Given the description of an element on the screen output the (x, y) to click on. 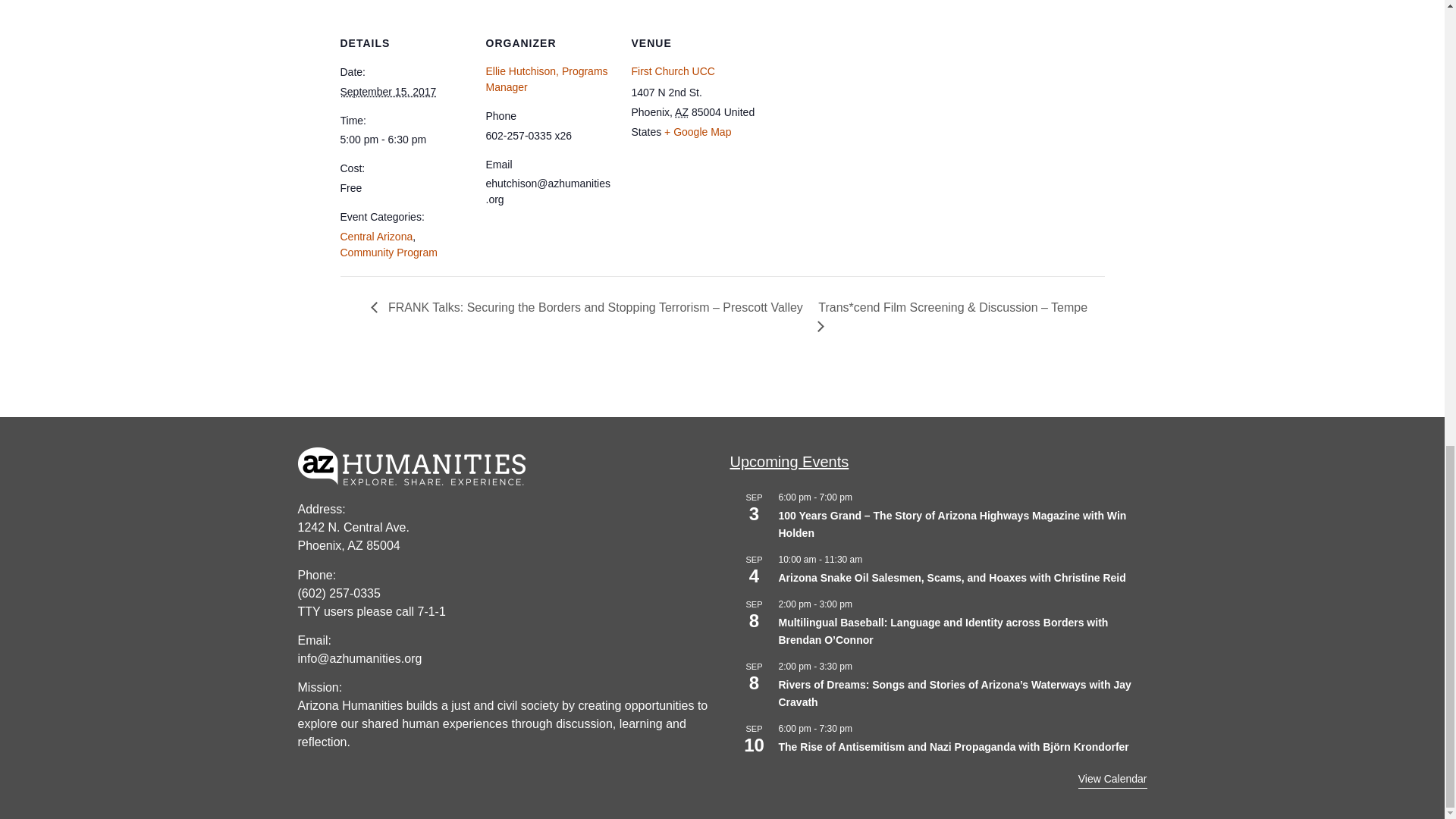
Arizona (681, 111)
2017-09-15 (403, 139)
Click to view a Google Map (696, 132)
2017-09-15 (387, 91)
Ellie Hutchison, Programs Manager (545, 79)
View more events. (1112, 779)
